Given the description of an element on the screen output the (x, y) to click on. 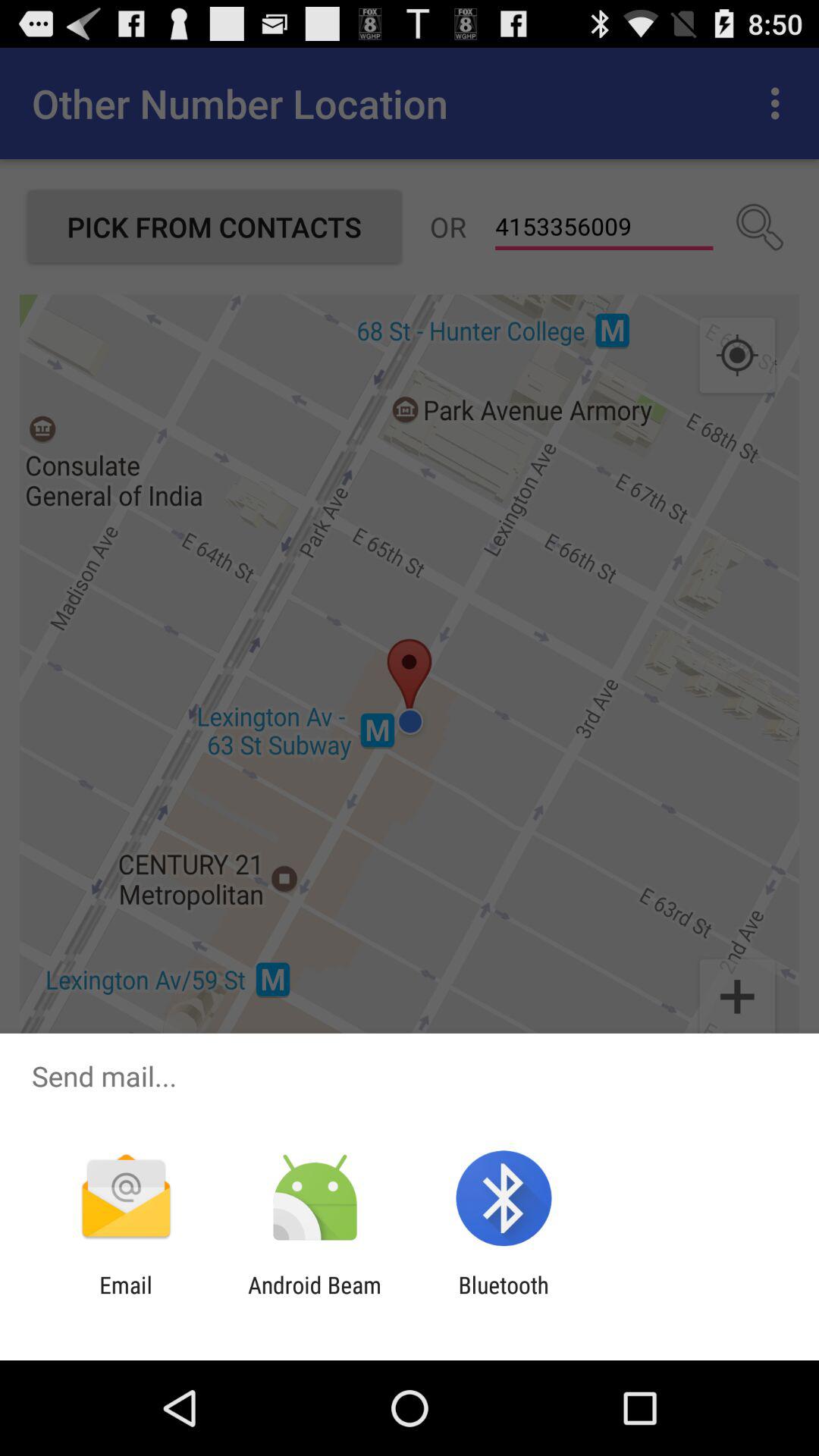
turn off icon to the right of android beam (503, 1298)
